Given the description of an element on the screen output the (x, y) to click on. 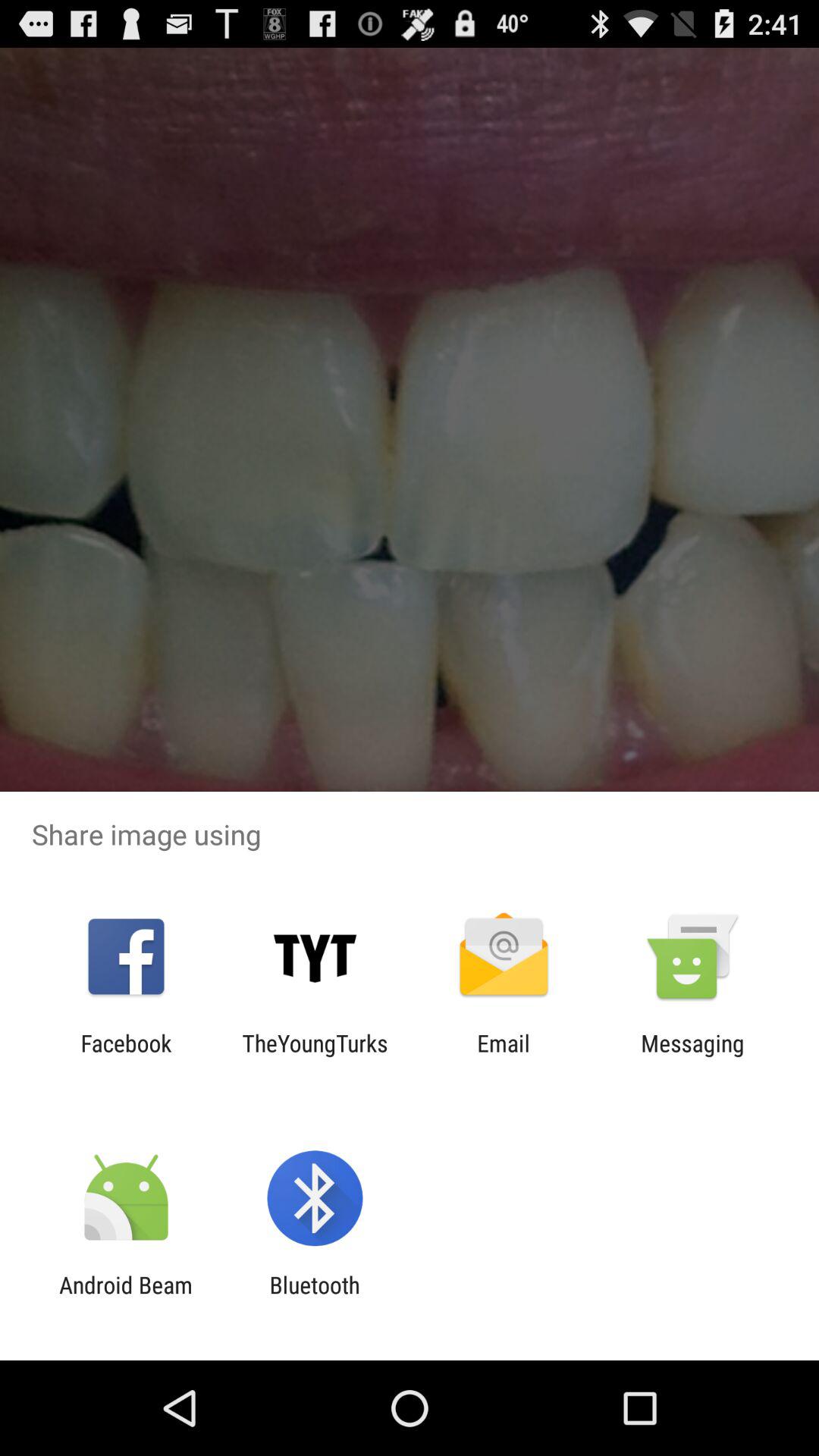
tap item to the right of facebook (314, 1056)
